Given the description of an element on the screen output the (x, y) to click on. 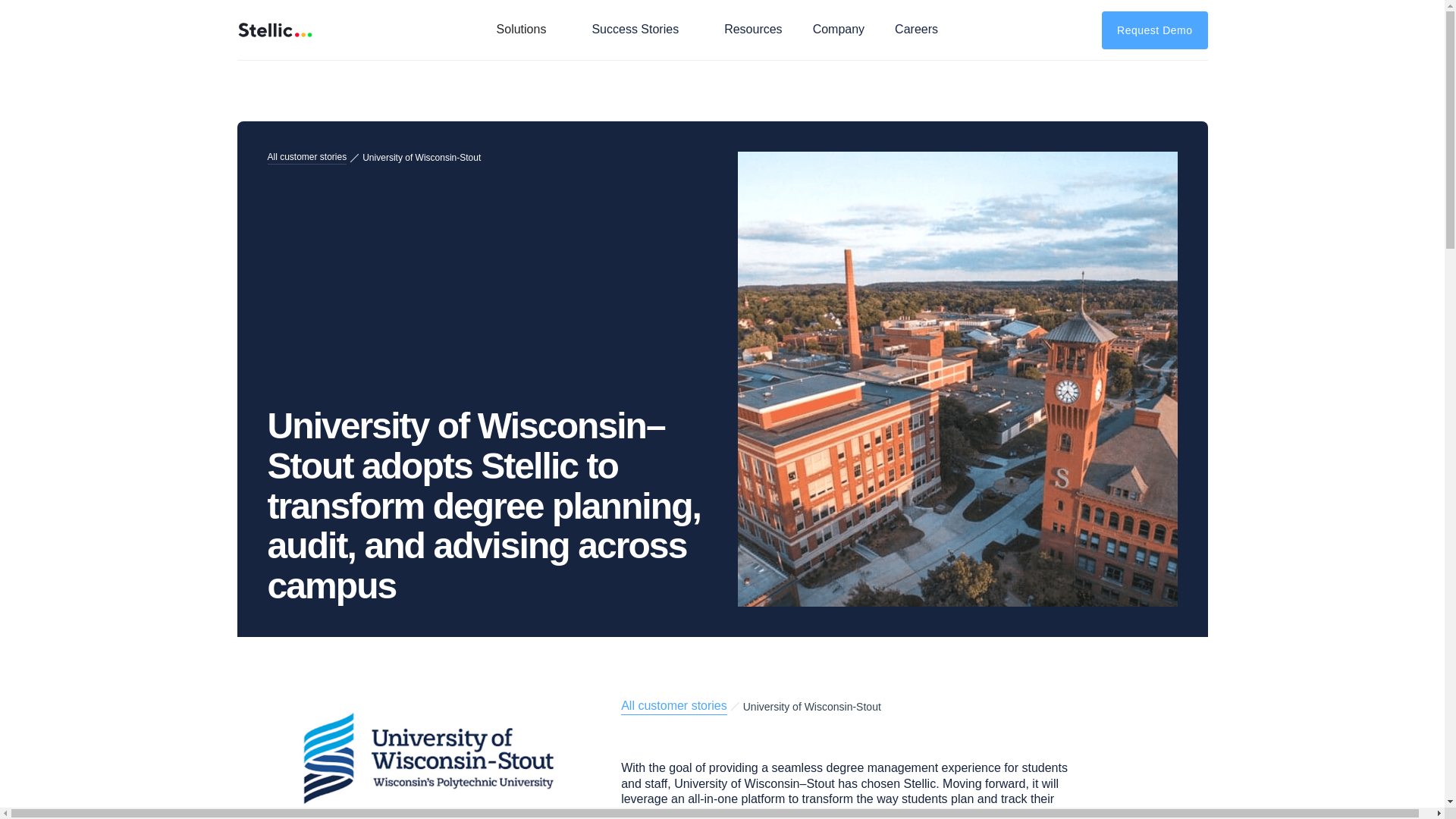
All customer stories (673, 706)
Resources (752, 29)
Careers (916, 29)
All customer stories (306, 157)
Request Demo (1154, 29)
